Given the description of an element on the screen output the (x, y) to click on. 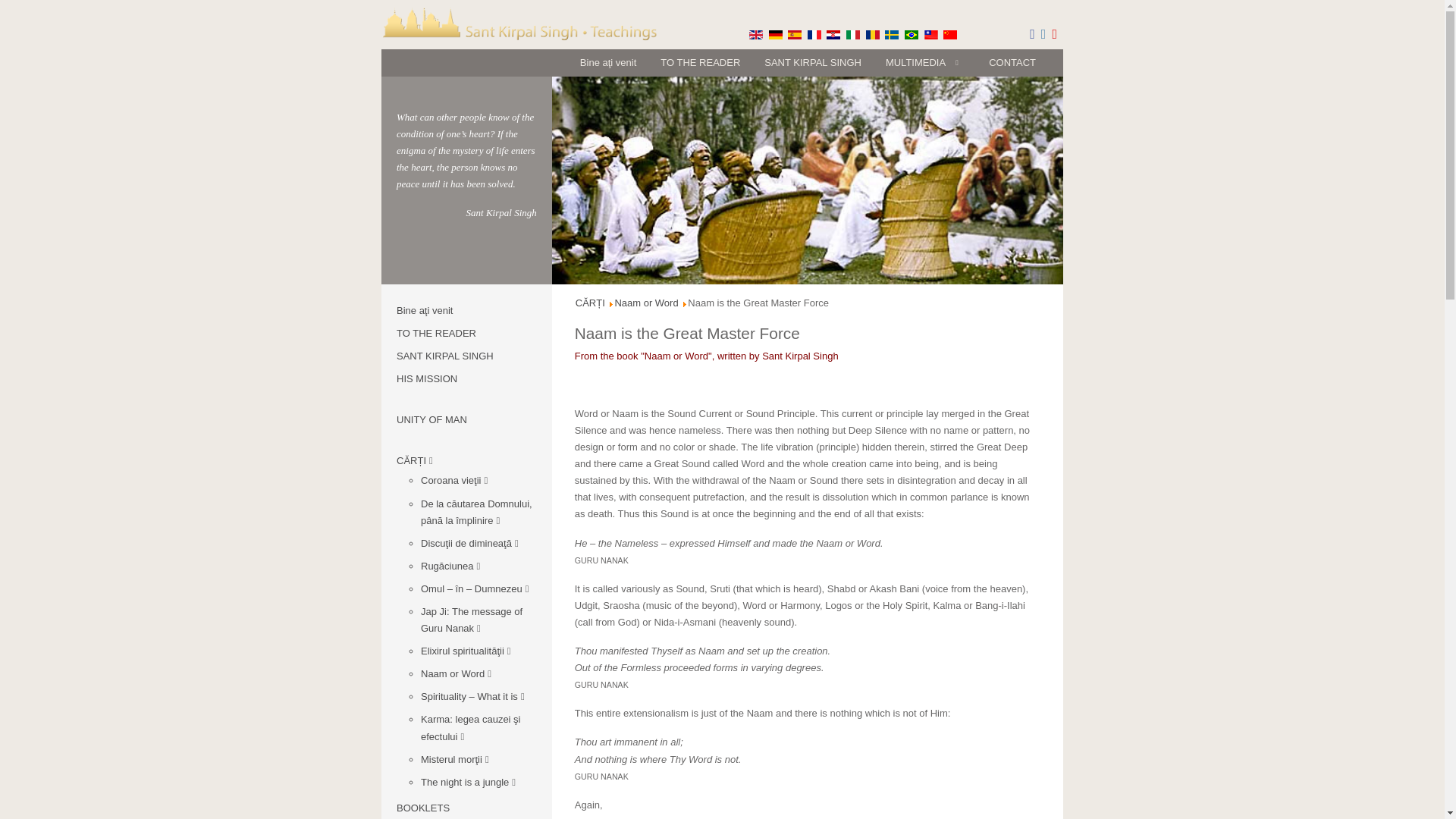
Svenska (891, 34)
French (814, 34)
Deutsch (775, 34)
SANT KIRPAL SINGH (812, 62)
Italiano (852, 34)
TO THE READER (699, 62)
English  (755, 34)
MULTIMEDIA (924, 62)
Hrvatski (833, 34)
CONTACT (1012, 62)
